Given the description of an element on the screen output the (x, y) to click on. 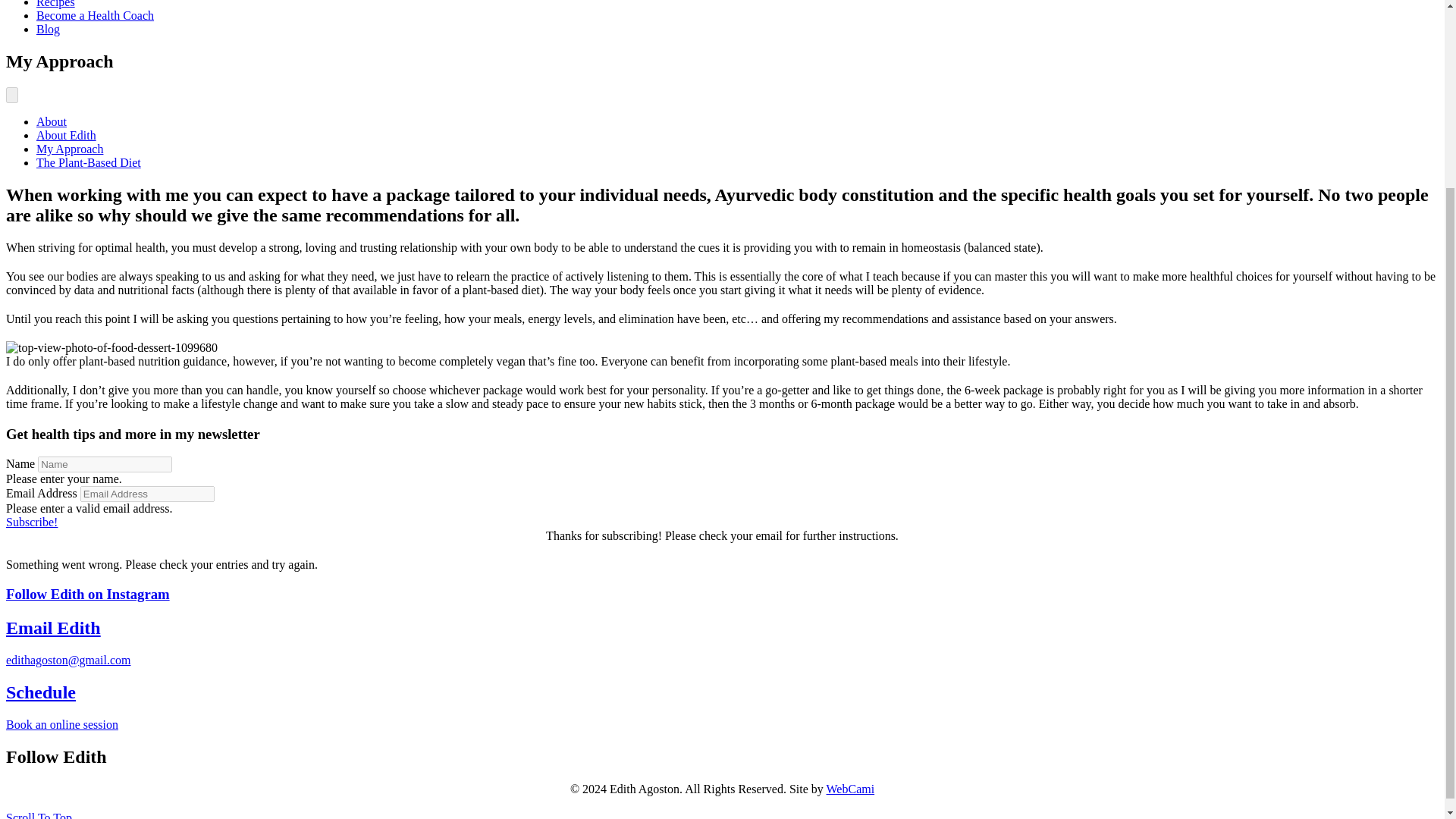
My Approach (69, 148)
Subscribe! (31, 521)
top-view-photo-of-food-dessert-1099680 (110, 346)
Book an online session (61, 724)
Follow Edith on Instagram (87, 593)
Follow Edith on Instagram (87, 593)
Schedule (40, 691)
Become a Health Coach (95, 15)
WebCami (851, 788)
Email Edith (52, 628)
Email Edith (52, 628)
Recipes (55, 4)
The Plant-Based Diet (88, 162)
About (51, 121)
Blog (47, 29)
